Given the description of an element on the screen output the (x, y) to click on. 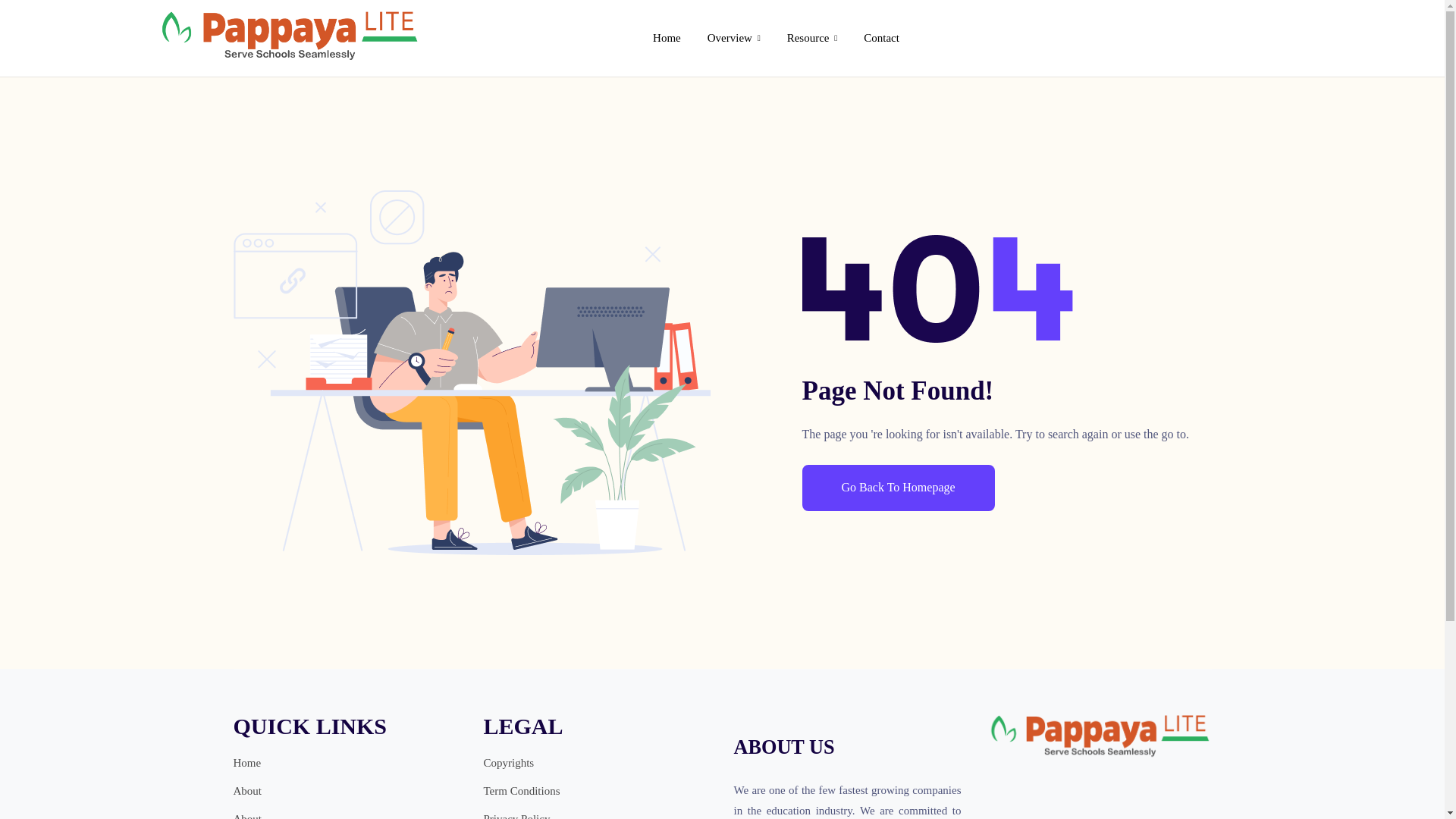
Home (247, 762)
Resource (812, 38)
Home (667, 38)
Privacy Policy (516, 814)
Overview (733, 38)
About (247, 814)
Contact (881, 38)
Go Back To Homepage (898, 488)
Term Conditions (521, 791)
About (247, 791)
Copyrights (508, 762)
